Given the description of an element on the screen output the (x, y) to click on. 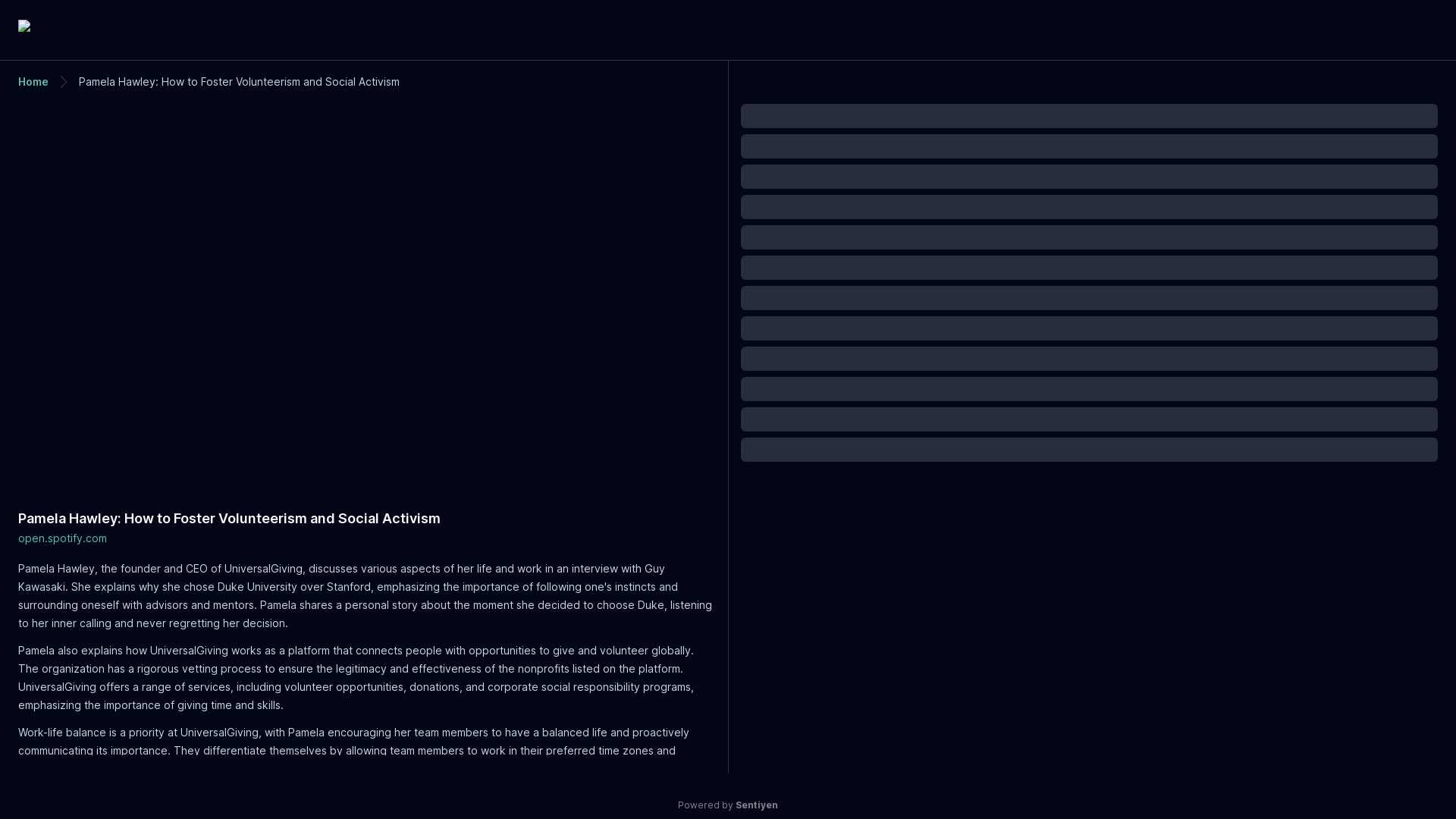
Home (32, 81)
Sentiyen (727, 27)
Sentiyen (756, 804)
